Given the description of an element on the screen output the (x, y) to click on. 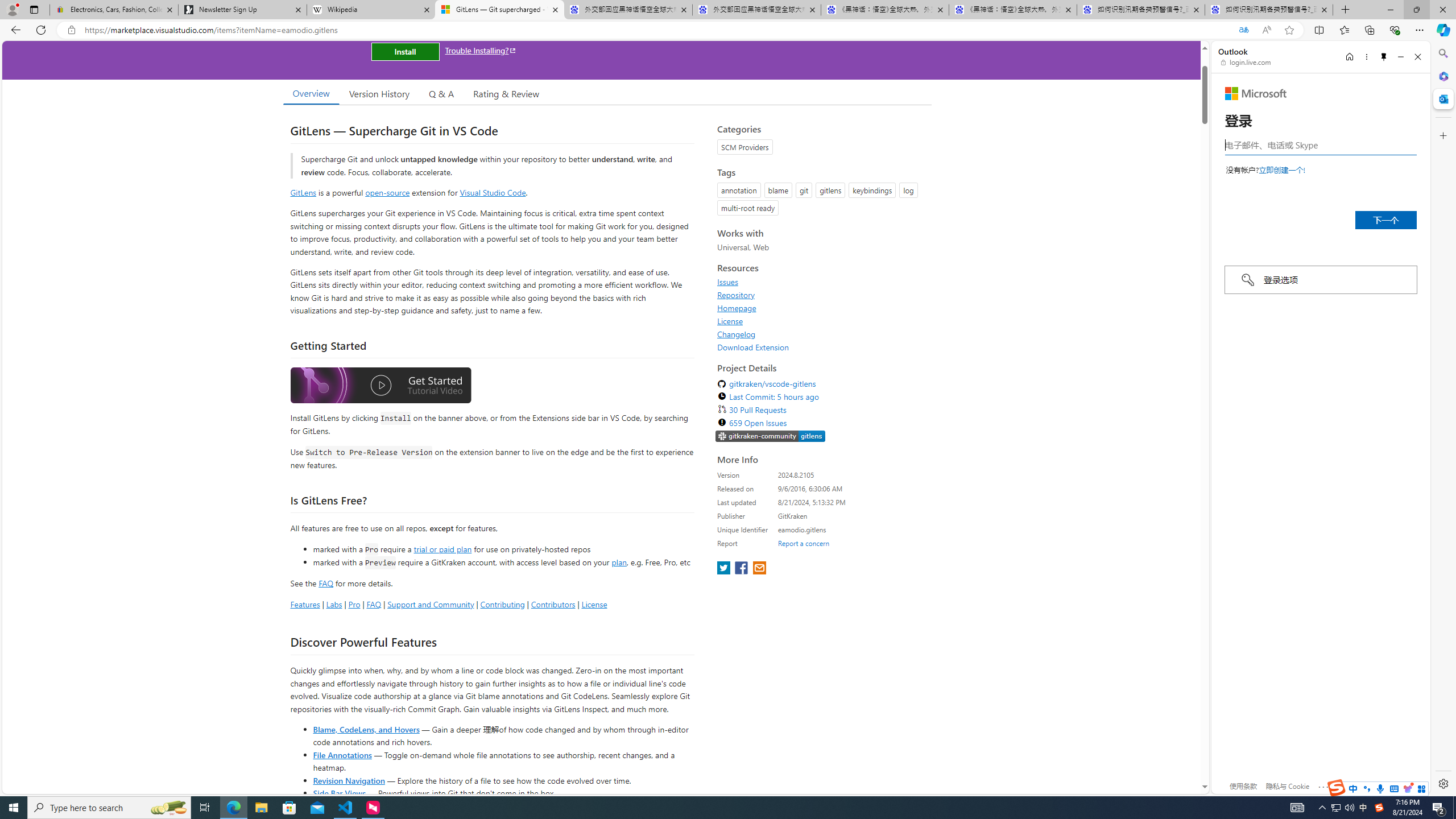
Repository (820, 294)
plan (618, 562)
FAQ (373, 603)
Homepage (737, 307)
Revision Navigation (348, 780)
Contributors (552, 603)
Repository (735, 294)
License (820, 320)
